Given the description of an element on the screen output the (x, y) to click on. 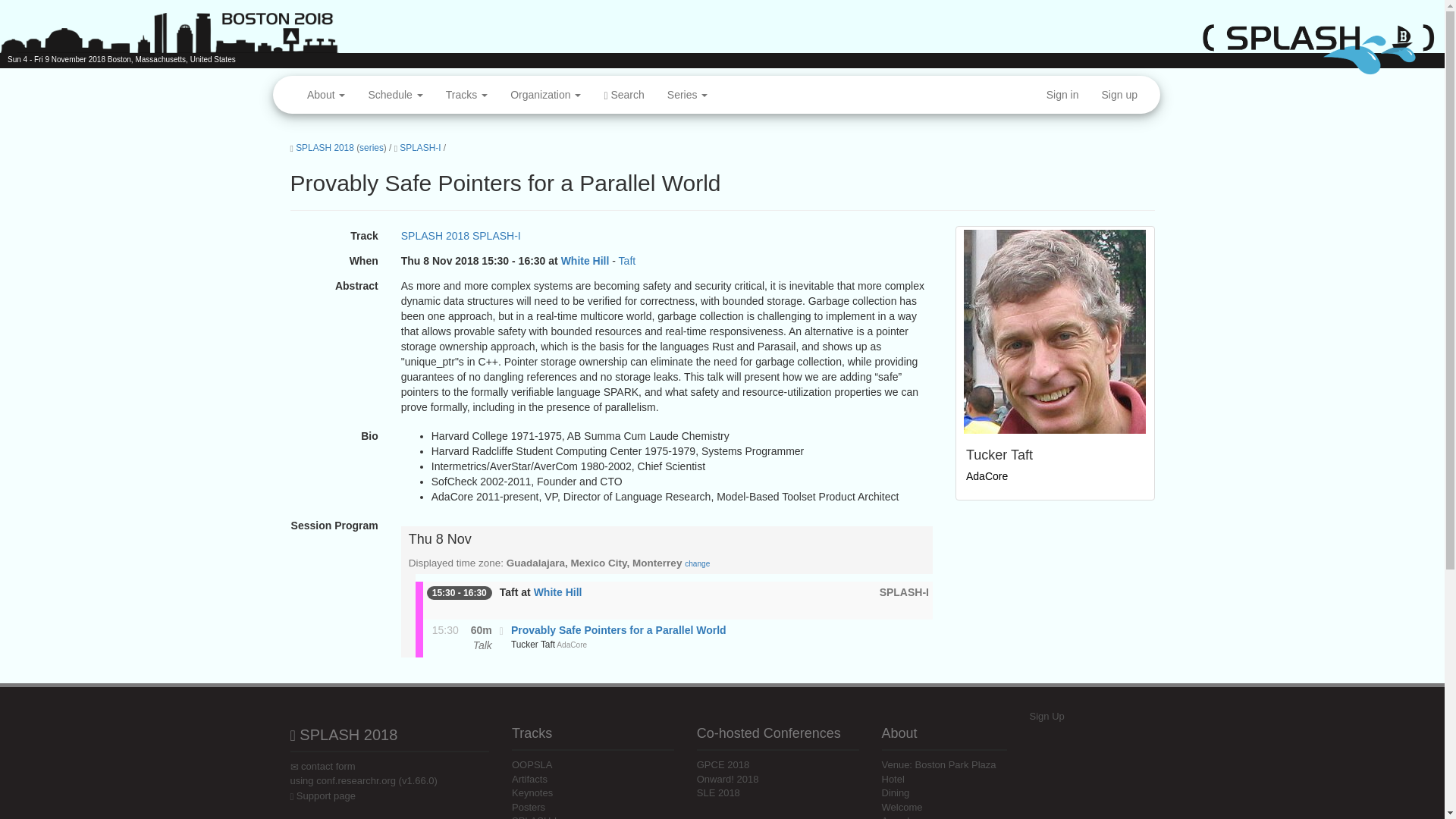
Boston, Massachusetts, United States (171, 59)
Schedule (394, 94)
Tracks (466, 94)
About (325, 94)
